Given the description of an element on the screen output the (x, y) to click on. 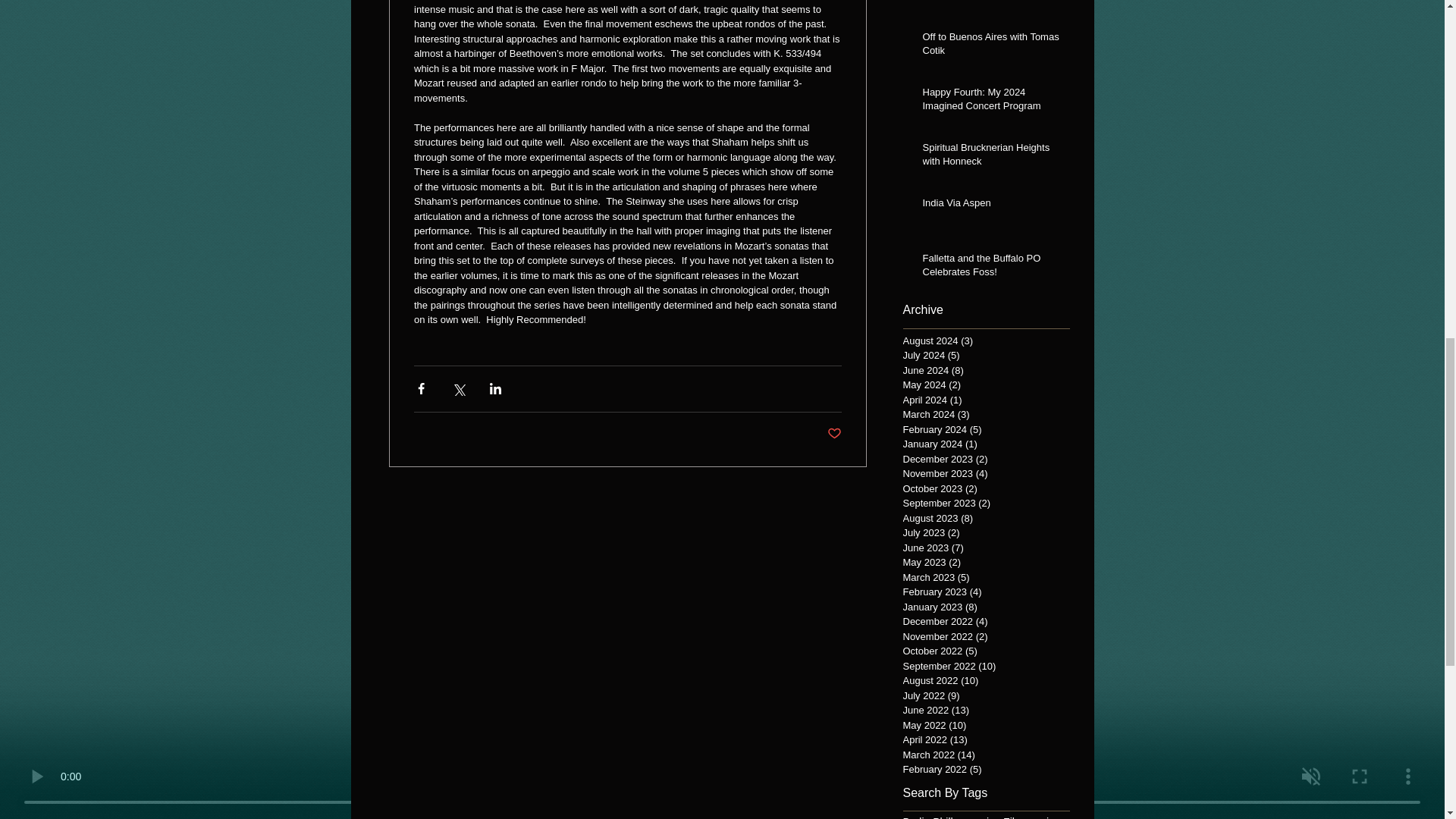
Falletta and the Buffalo PO Celebrates Foss! (990, 268)
Post not marked as liked (834, 433)
India Via Aspen (990, 206)
Inspiring New Choral Music Elevates! (990, 4)
Happy Fourth: My 2024 Imagined Concert Program (990, 101)
Off to Buenos Aires with Tomas Cotik (990, 46)
Spiritual Brucknerian Heights with Honneck (990, 157)
